Given the description of an element on the screen output the (x, y) to click on. 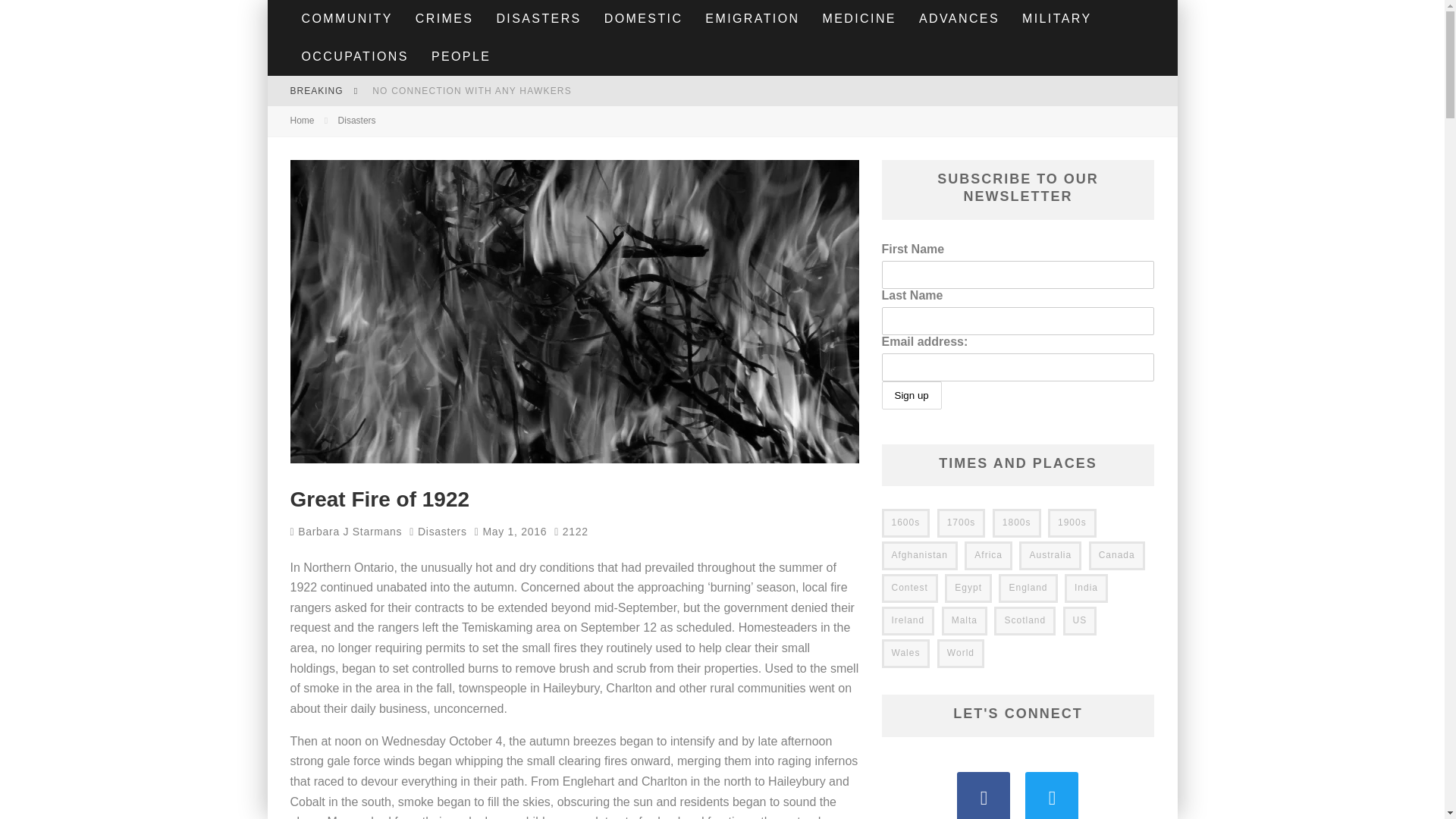
No Connection With Any Hawkers (472, 90)
COMMUNITY (346, 18)
CRIMES (444, 18)
Sign up (910, 395)
